Given the description of an element on the screen output the (x, y) to click on. 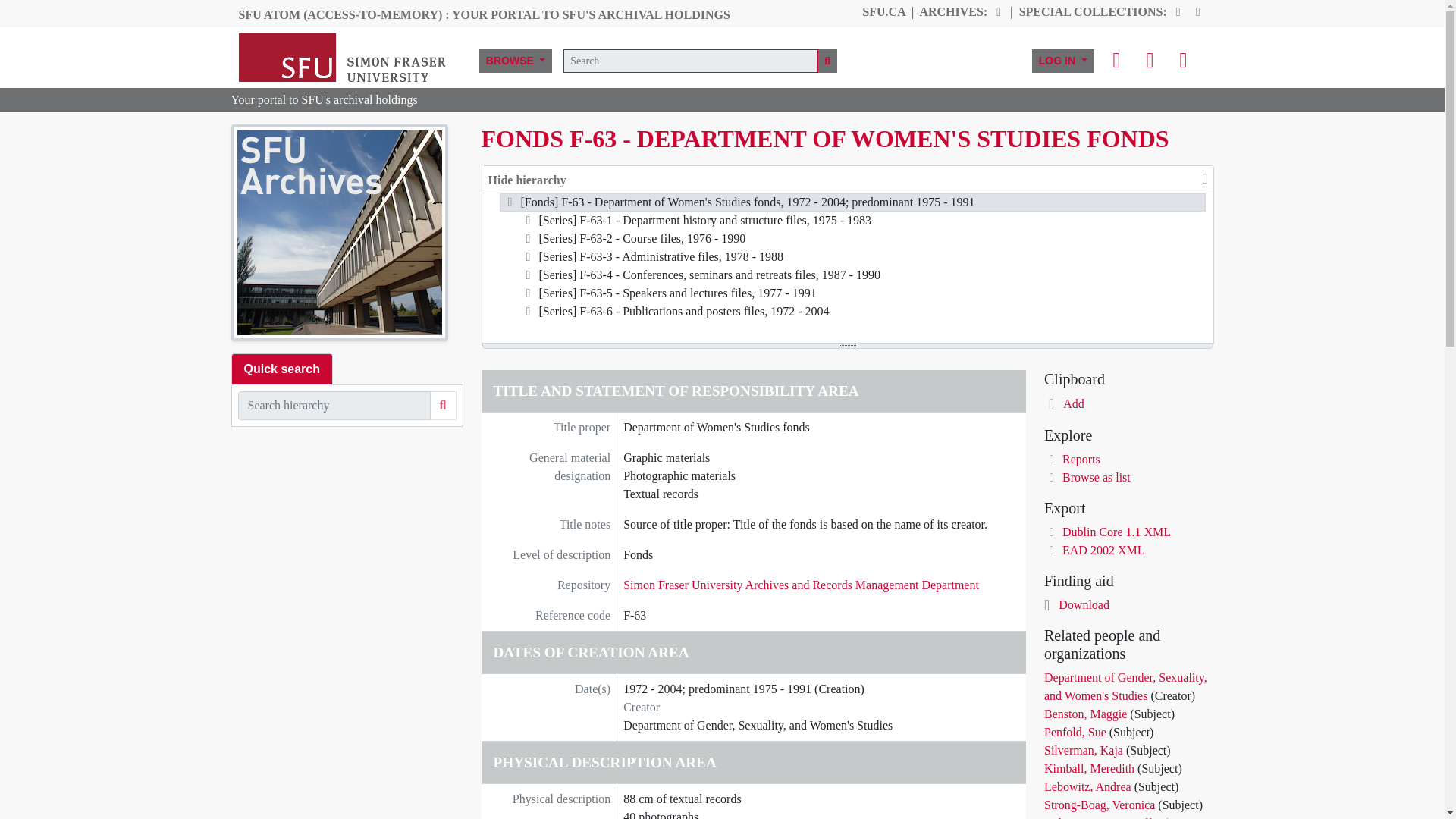
SKIP TO MAIN CONTENT (69, 11)
SFU.CA (882, 11)
BROWSE (515, 60)
SEARCH (443, 405)
Quick search (281, 368)
ARCHIVES: (952, 11)
QUICK LINKS (1149, 60)
Home (349, 57)
SPECIAL COLLECTIONS: (1093, 11)
CLIPBOARD (1115, 60)
LANGUAGE (1182, 60)
LOG IN (1063, 60)
